Given the description of an element on the screen output the (x, y) to click on. 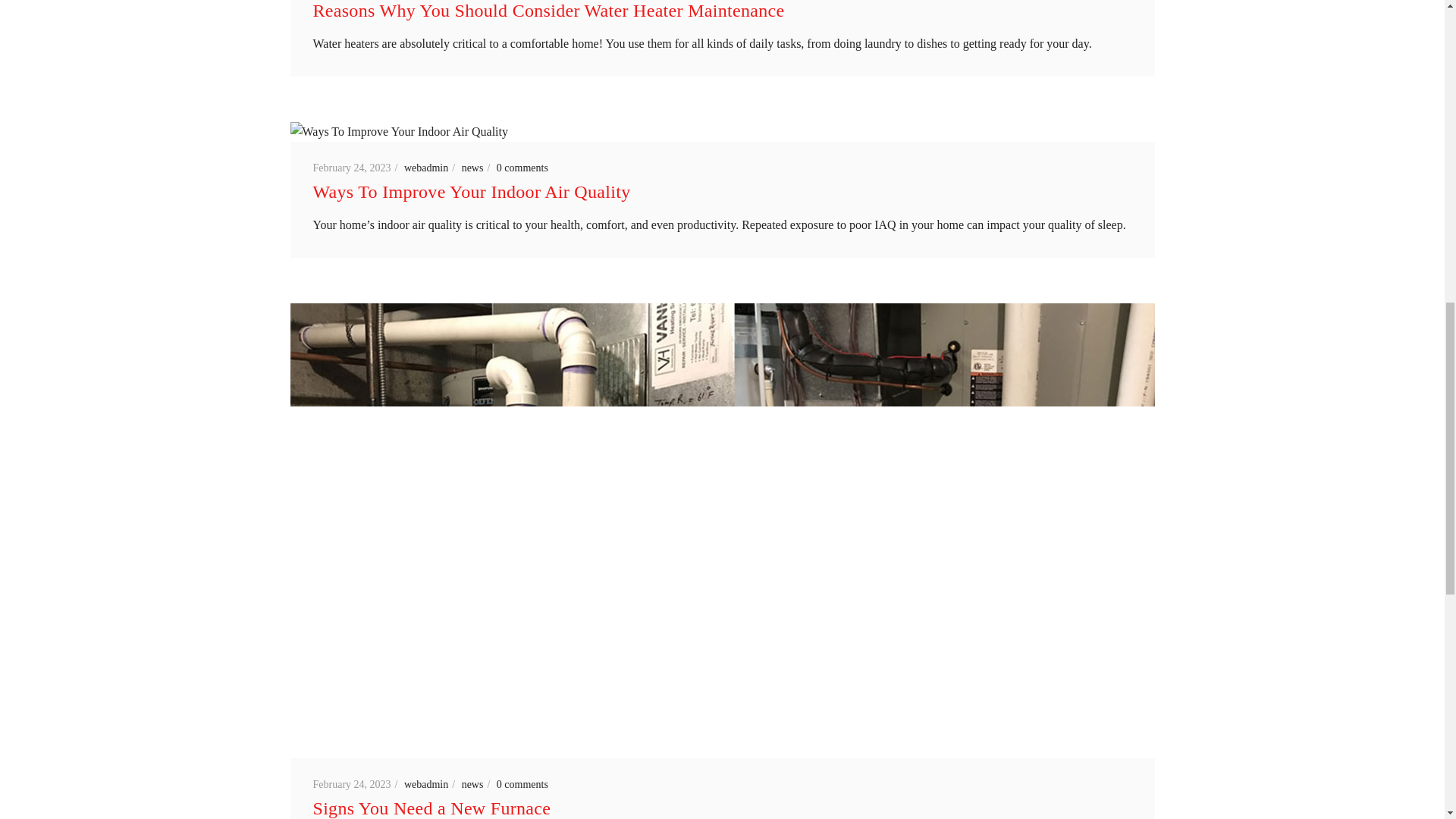
Reasons Why You Should Consider Water Heater Maintenance (548, 10)
Ways To Improve Your Indoor Air Quality (471, 191)
news (478, 167)
webadmin (431, 167)
0 comments (522, 167)
